Given the description of an element on the screen output the (x, y) to click on. 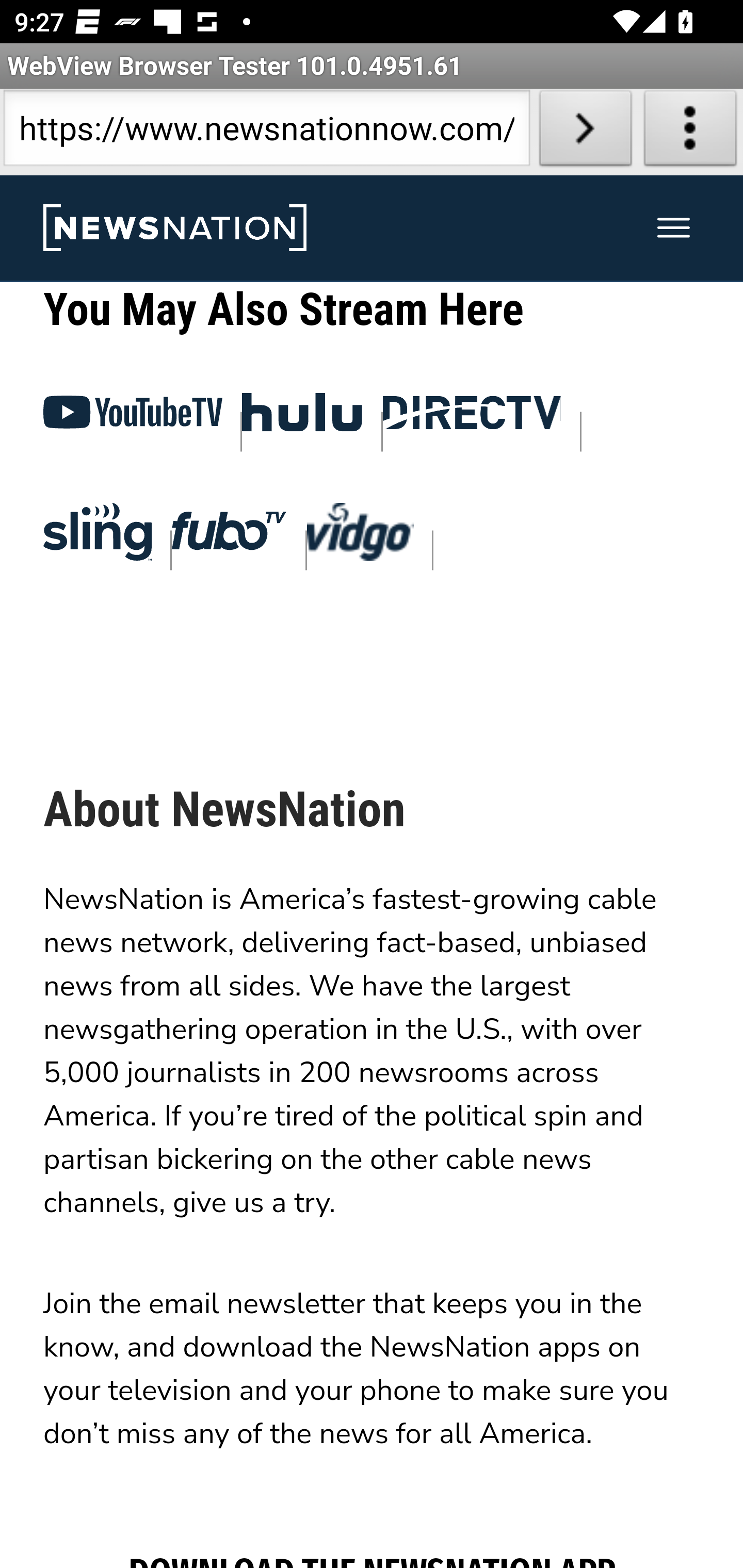
https://www.newsnationnow.com/channel-finder/ (266, 132)
Load URL (585, 132)
About WebView (690, 132)
www.newsnationnow (174, 228)
Toggle Menu (674, 228)
Hulu (303, 417)
YouTube TV (133, 418)
Direct TV (472, 418)
Sling (97, 536)
Vidgo (360, 536)
Fubo (229, 536)
